Given the description of an element on the screen output the (x, y) to click on. 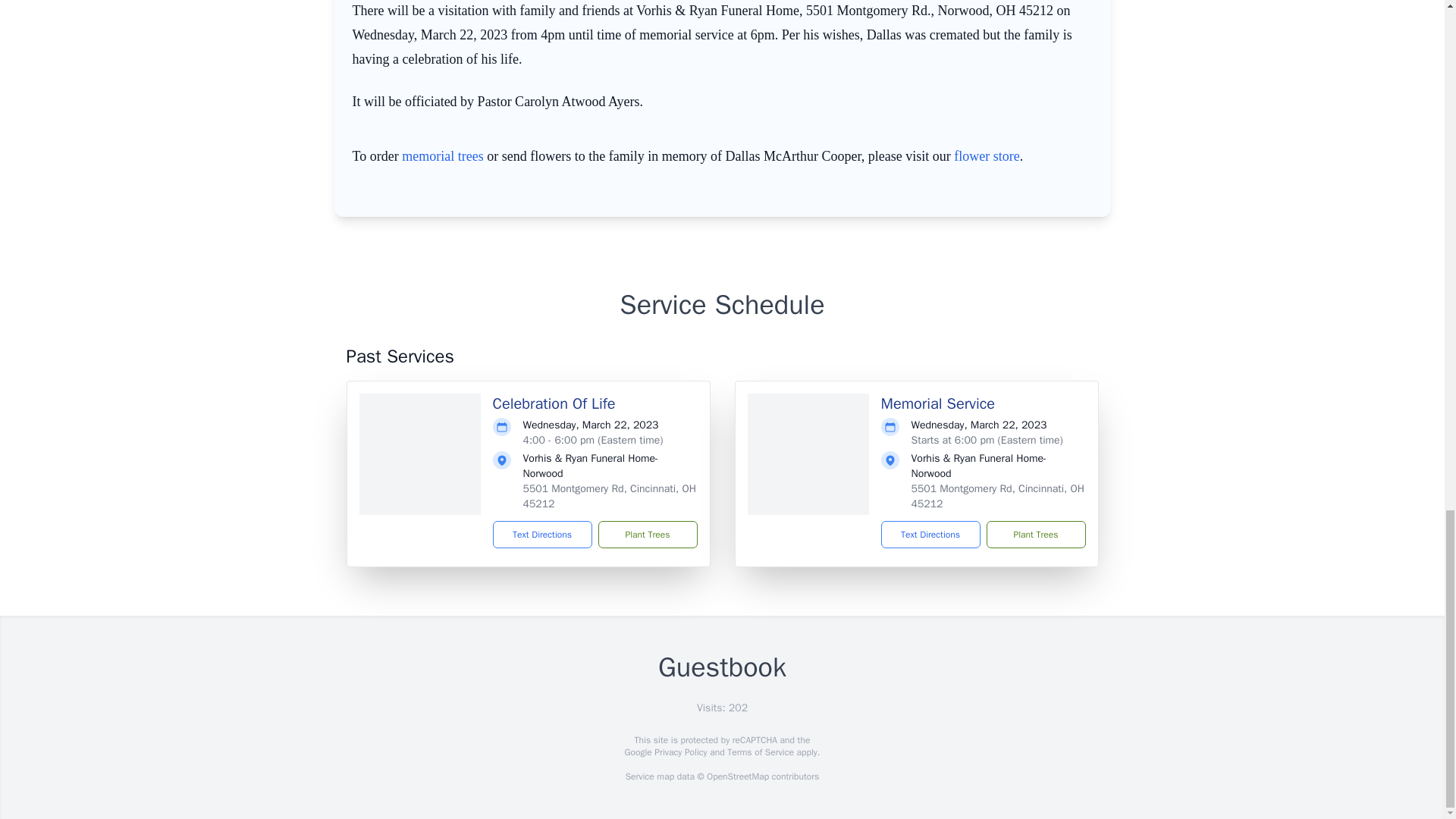
5501 Montgomery Rd, Cincinnati, OH 45212 (997, 496)
Text Directions (929, 533)
OpenStreetMap (737, 776)
5501 Montgomery Rd, Cincinnati, OH 45212 (608, 496)
Text Directions (542, 533)
Plant Trees (646, 533)
Plant Trees (1034, 533)
Privacy Policy (679, 752)
Terms of Service (759, 752)
flower store (986, 155)
